Given the description of an element on the screen output the (x, y) to click on. 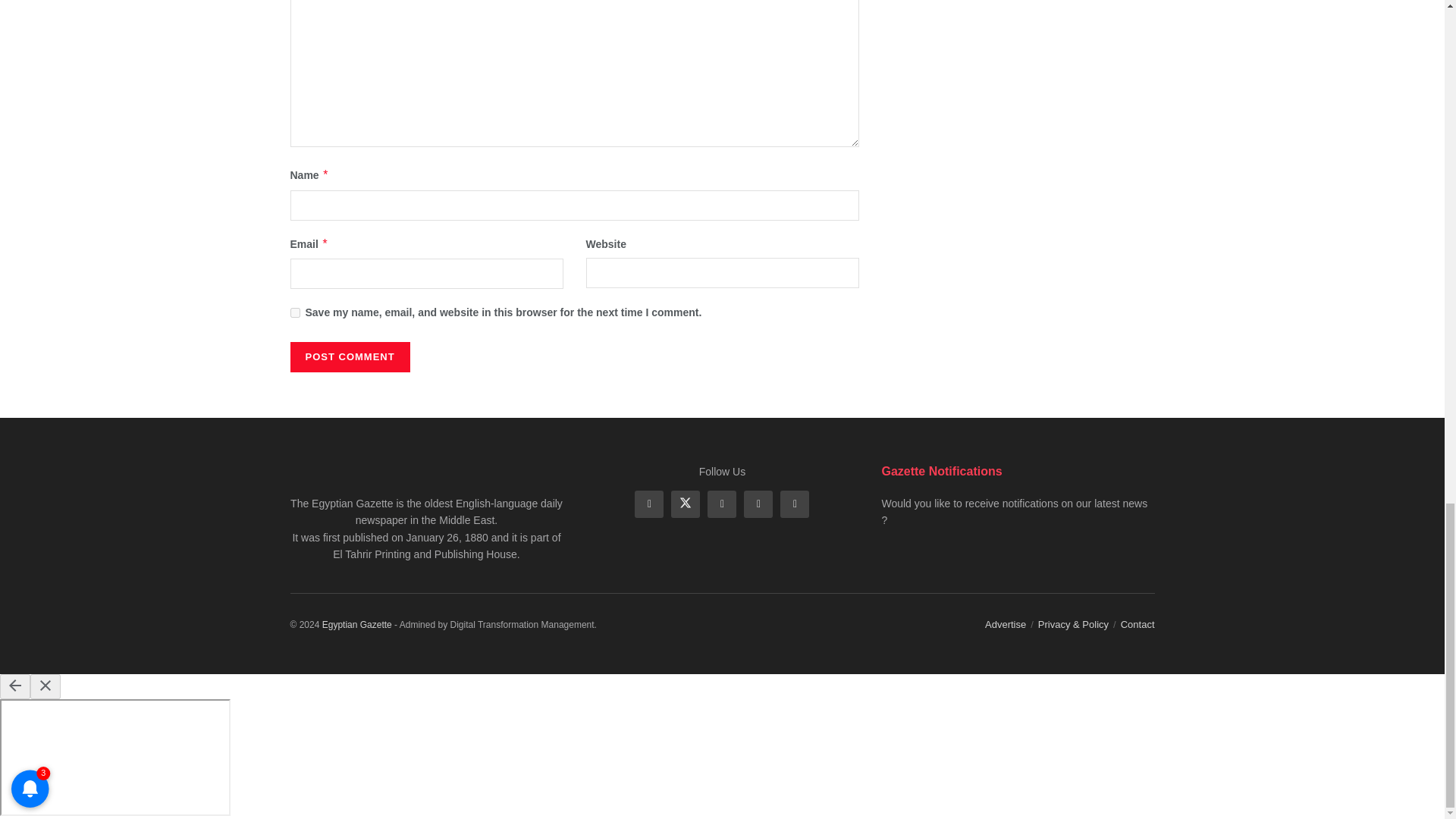
yes (294, 312)
Post Comment (349, 357)
